Given the description of an element on the screen output the (x, y) to click on. 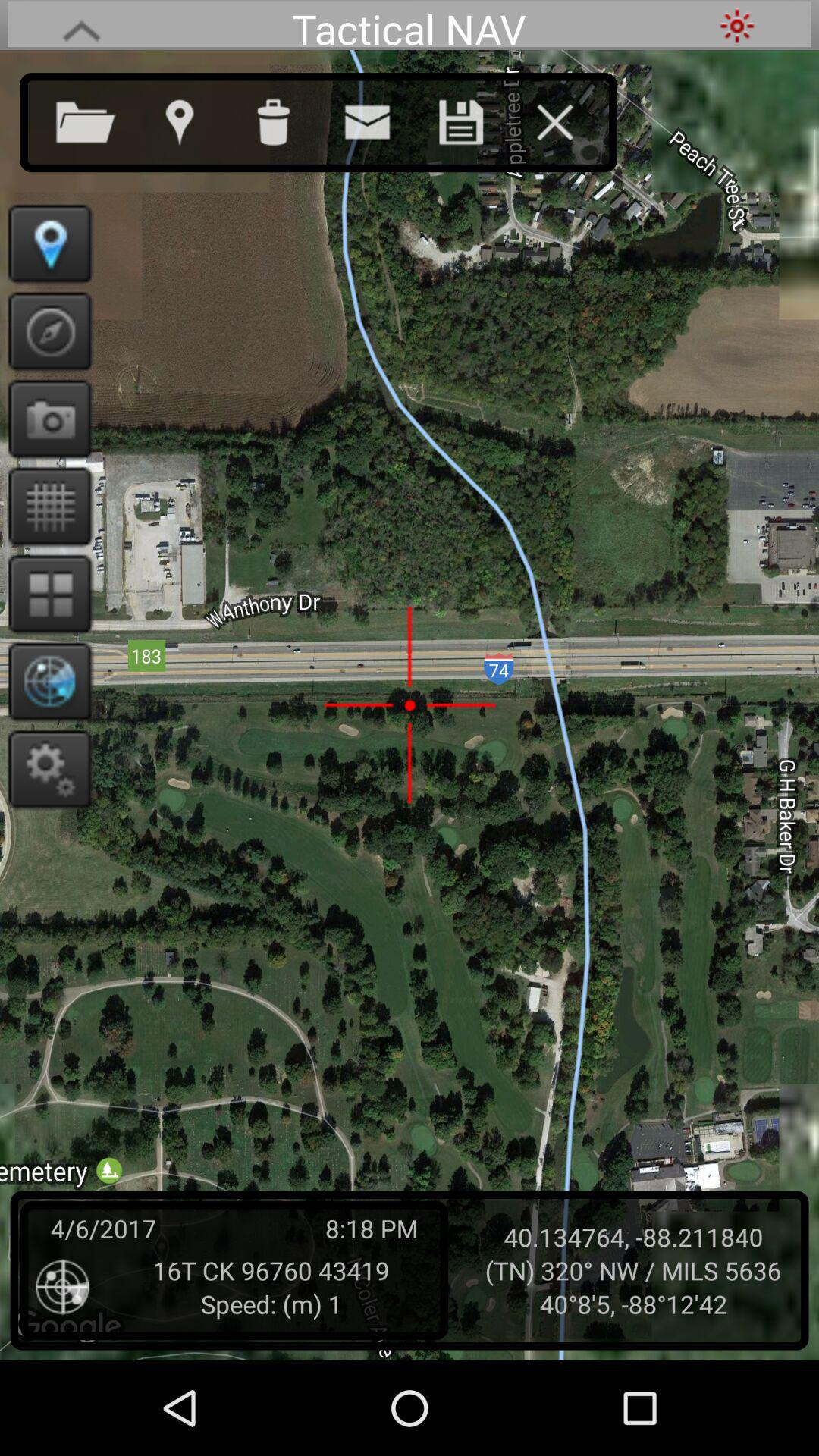
displays telemetry (45, 681)
